Given the description of an element on the screen output the (x, y) to click on. 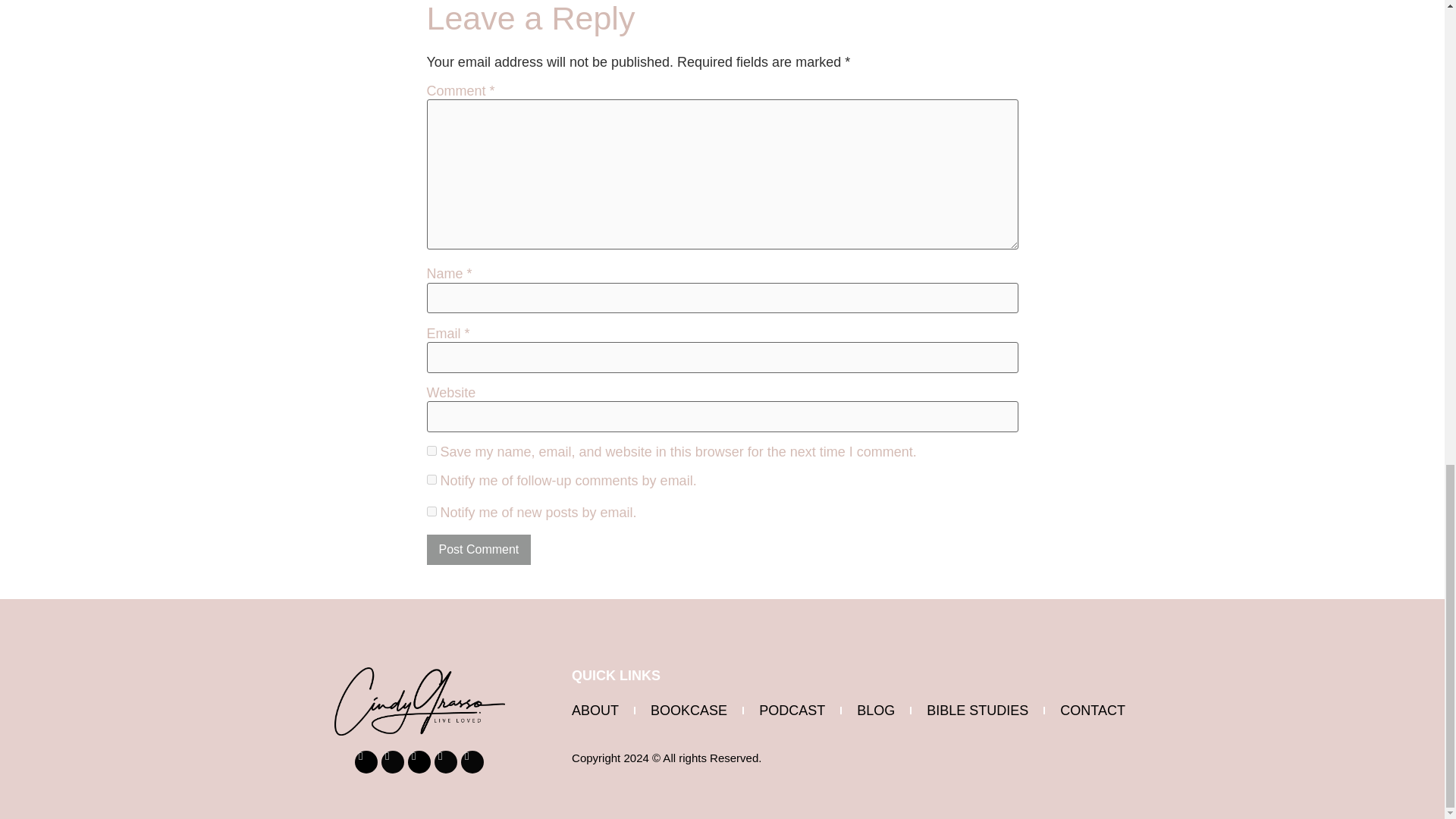
PODCAST (792, 710)
Post Comment (478, 549)
subscribe (430, 511)
subscribe (430, 479)
Post Comment (478, 549)
ABOUT (594, 710)
yes (430, 450)
BOOKCASE (688, 710)
BLOG (875, 710)
BIBLE STUDIES (977, 710)
